Given the description of an element on the screen output the (x, y) to click on. 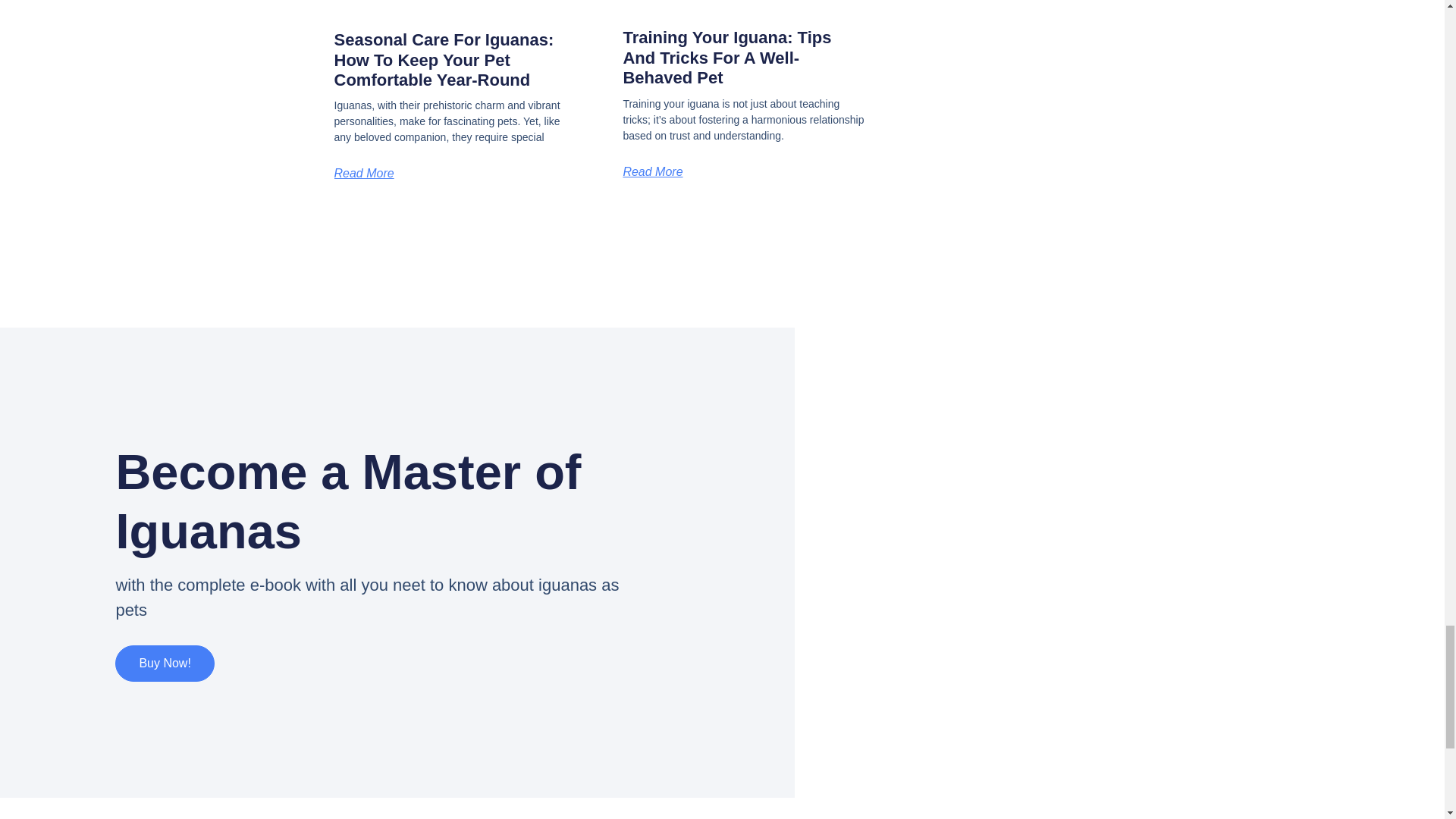
Read More (652, 171)
Training Your Iguana: Tips And Tricks For A Well-Behaved Pet (727, 56)
Buy Now! (164, 663)
Read More (363, 173)
